Given the description of an element on the screen output the (x, y) to click on. 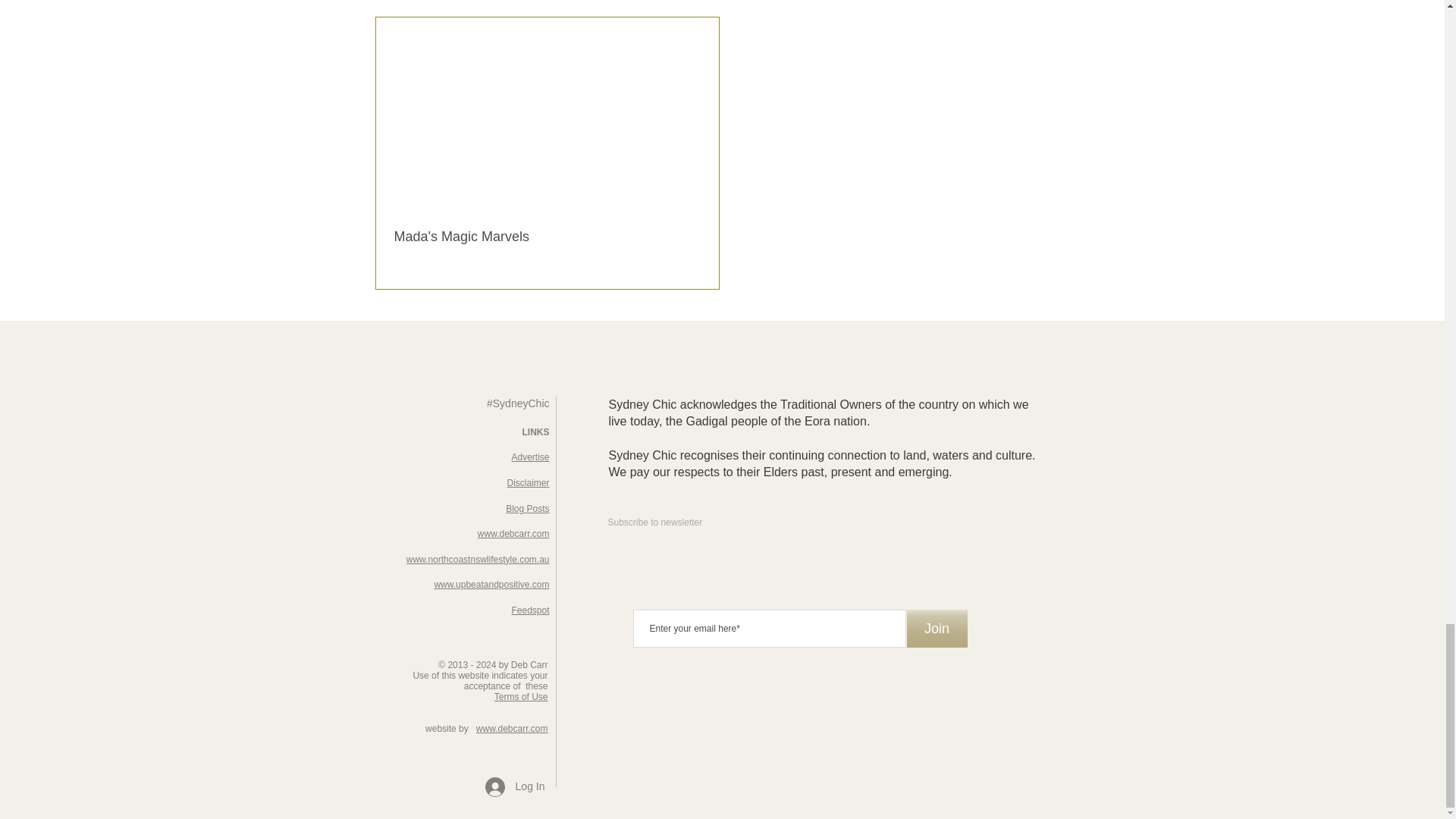
Mada's Magic Marvels (547, 236)
See All (837, 0)
